Given the description of an element on the screen output the (x, y) to click on. 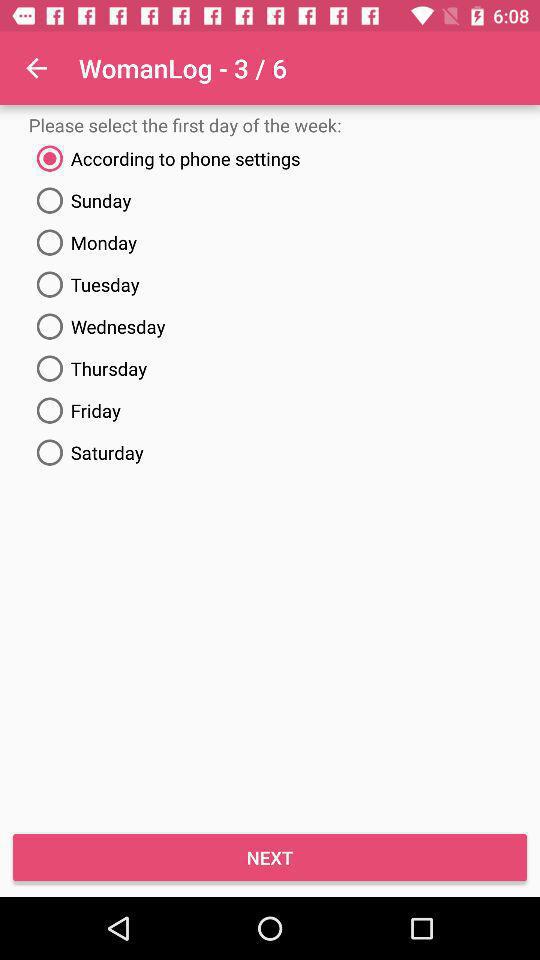
open the icon at the top left corner (36, 68)
